Given the description of an element on the screen output the (x, y) to click on. 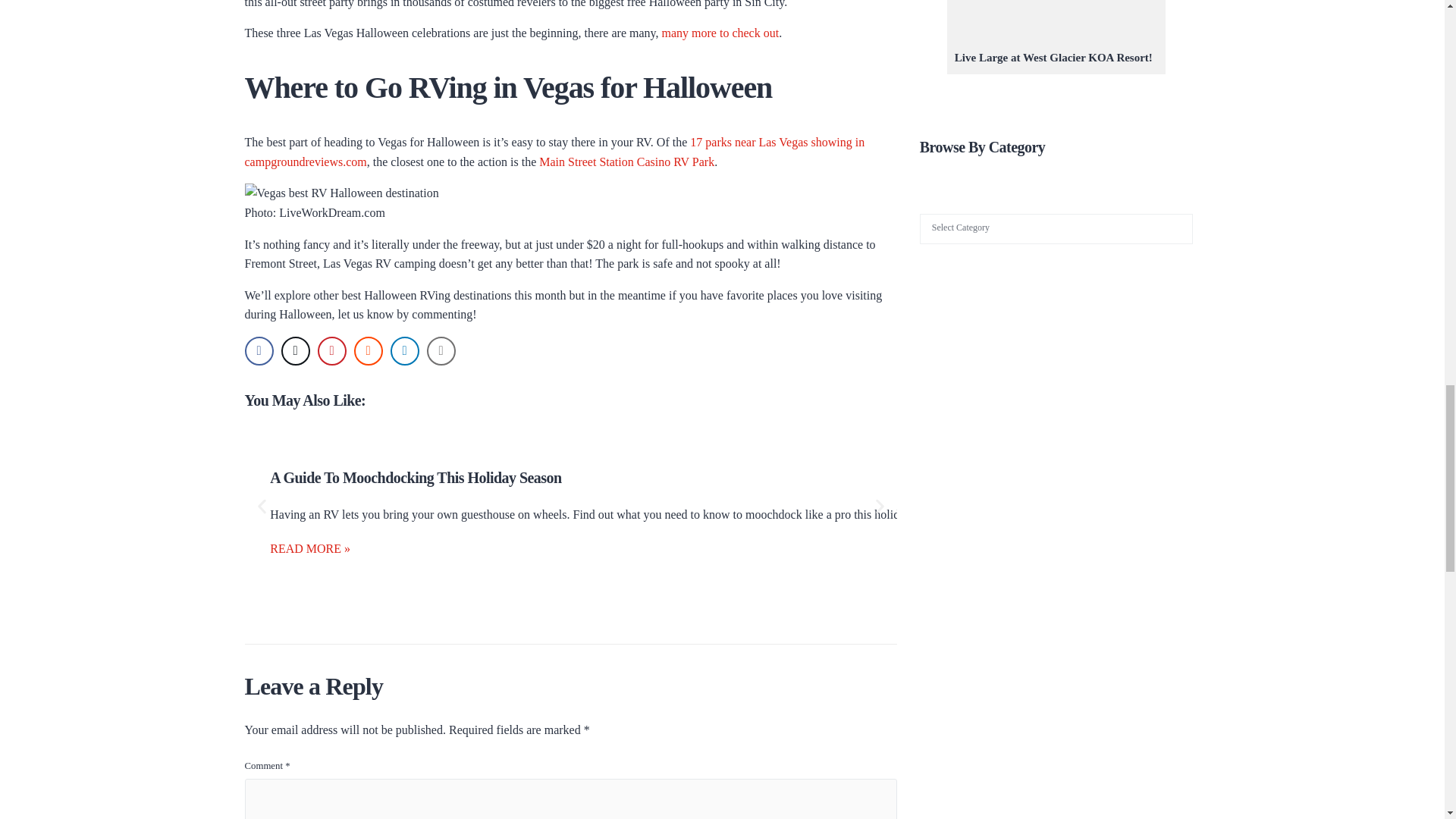
RV parks Las Vegas Nevada (554, 151)
Main Street Station Casino RV Park Las Vegas Nevada (626, 161)
